Given the description of an element on the screen output the (x, y) to click on. 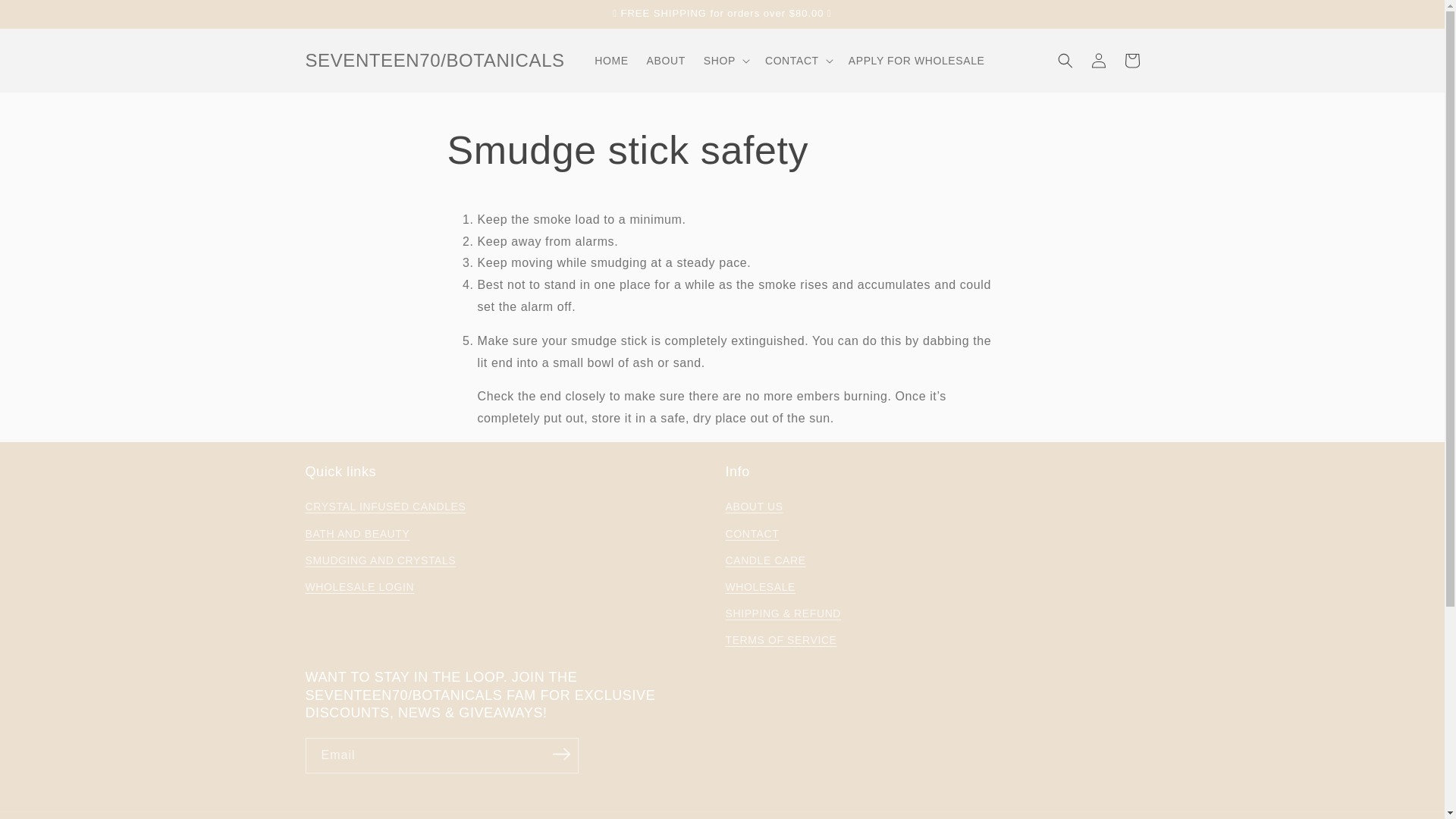
Skip to content (47, 18)
Cart (1131, 60)
ABOUT (665, 60)
CRYSTAL INFUSED CANDLES (384, 508)
HOME (611, 60)
Log in (1098, 60)
APPLY FOR WHOLESALE (917, 60)
